Given the description of an element on the screen output the (x, y) to click on. 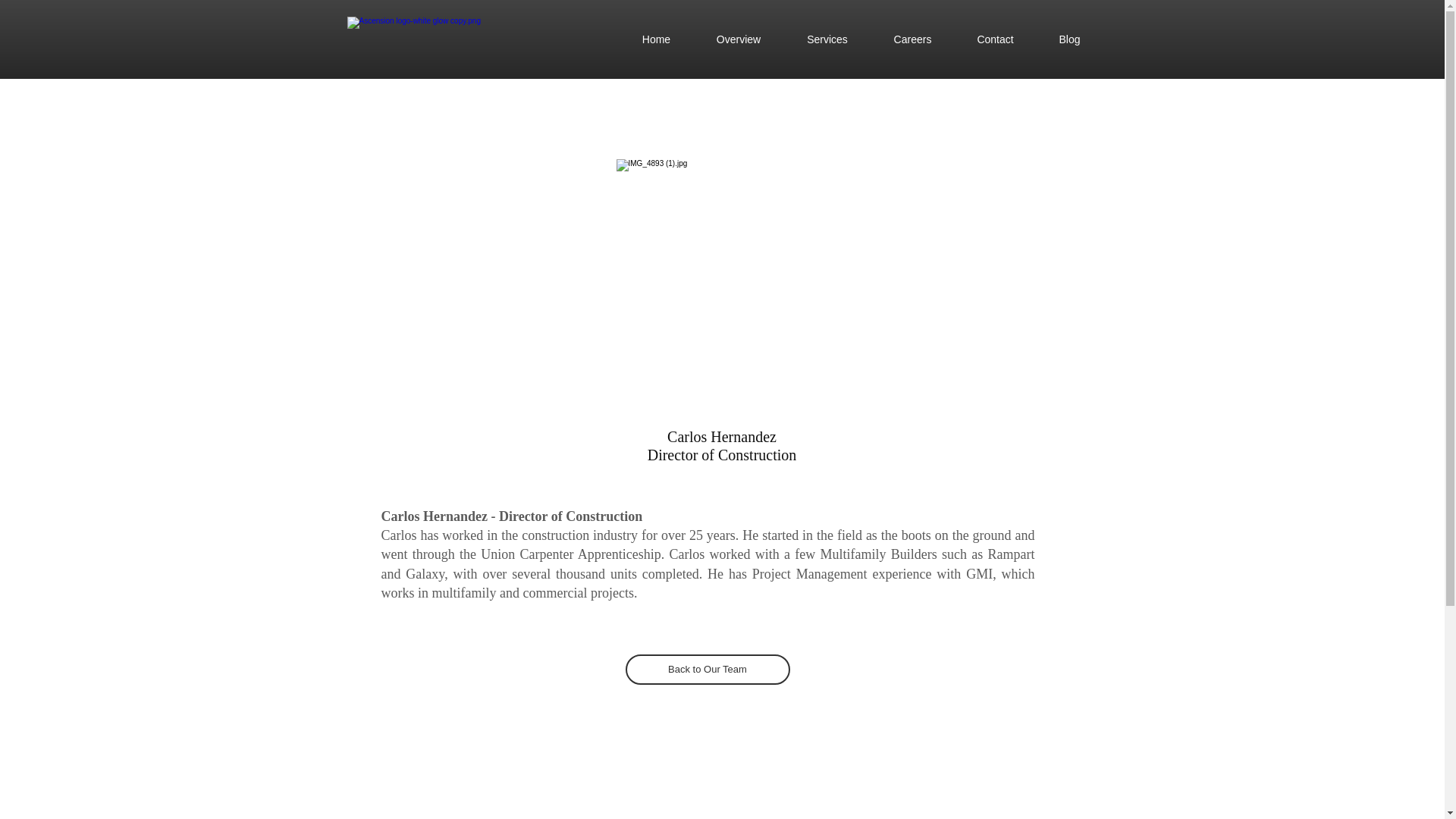
Back to Our Team (706, 669)
Home (655, 39)
Contact (994, 39)
Careers (911, 39)
Overview (738, 39)
Services (827, 39)
Blog (1068, 39)
